Given the description of an element on the screen output the (x, y) to click on. 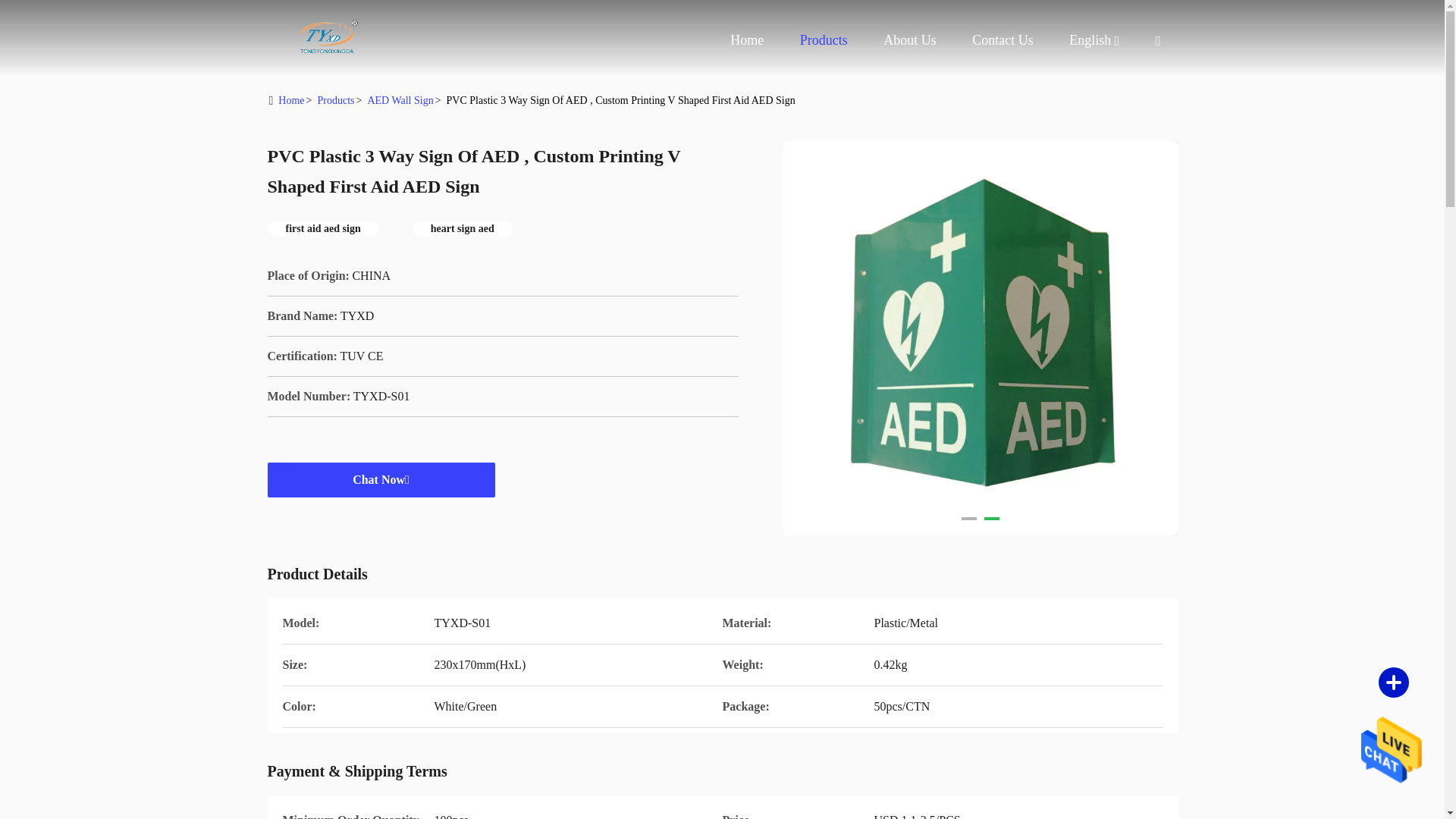
Contact Us (1002, 40)
Products (823, 40)
About Us (909, 40)
About Us (1089, 40)
Products (335, 100)
Products (823, 40)
AED Wall Sign (399, 100)
Home (328, 37)
Home (291, 100)
Contact Us (1002, 40)
